Given the description of an element on the screen output the (x, y) to click on. 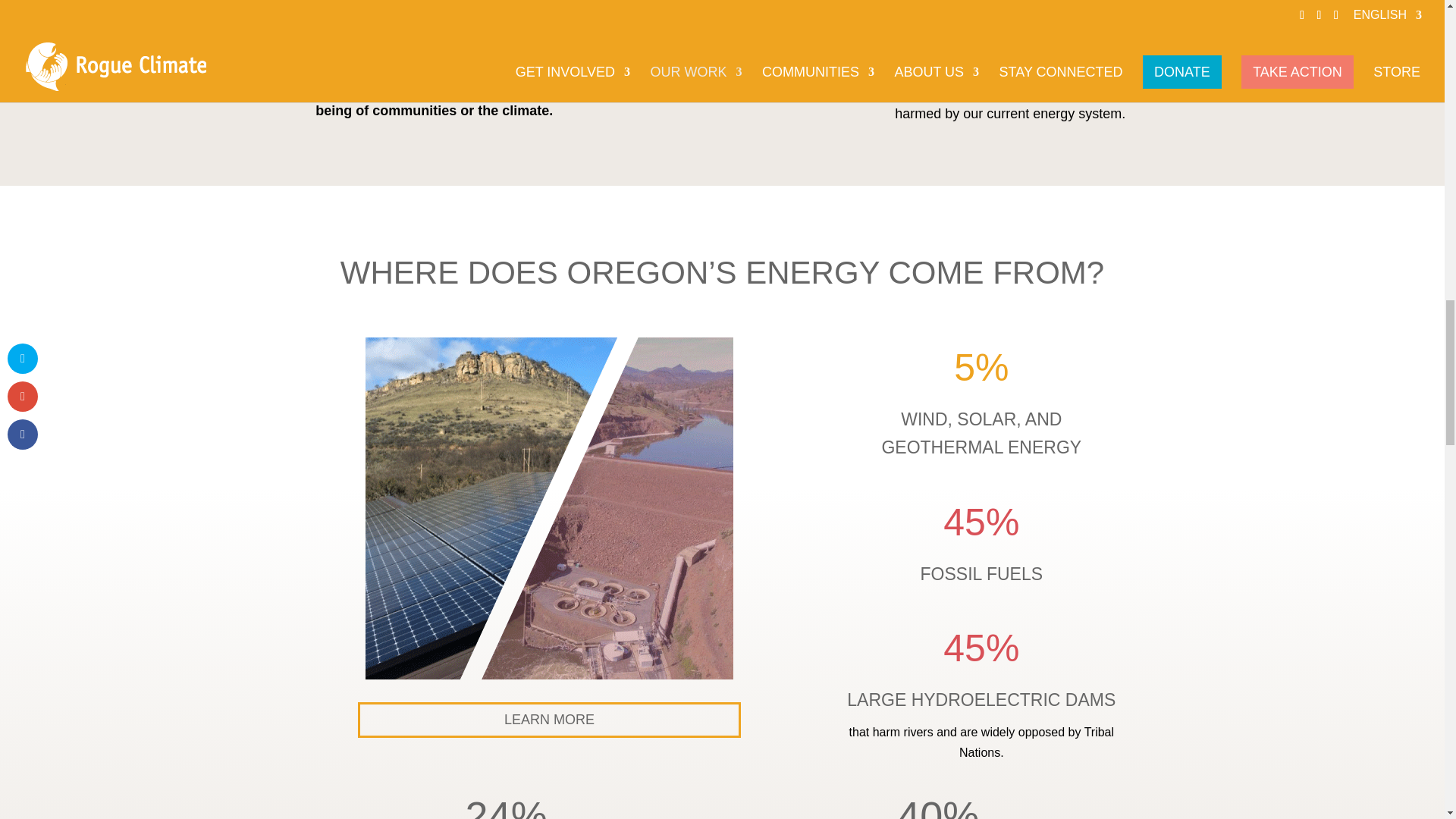
energy (549, 508)
solar-icon (434, 16)
justice-icon (1009, 20)
sun-icon (721, 24)
